Given the description of an element on the screen output the (x, y) to click on. 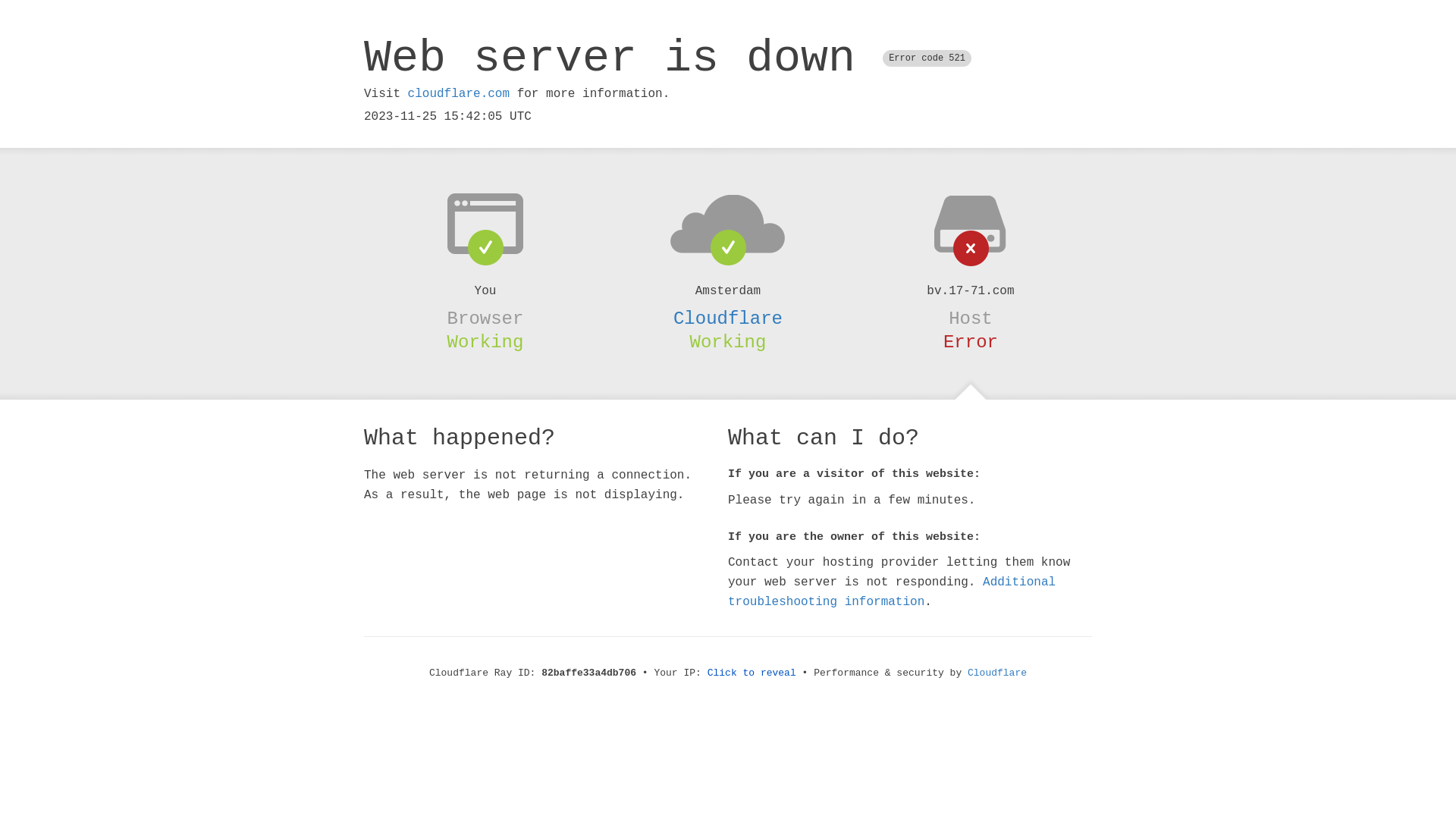
cloudflare.com Element type: text (458, 93)
Click to reveal Element type: text (751, 672)
Cloudflare Element type: text (727, 318)
Cloudflare Element type: text (996, 672)
Additional troubleshooting information Element type: text (891, 591)
